Given the description of an element on the screen output the (x, y) to click on. 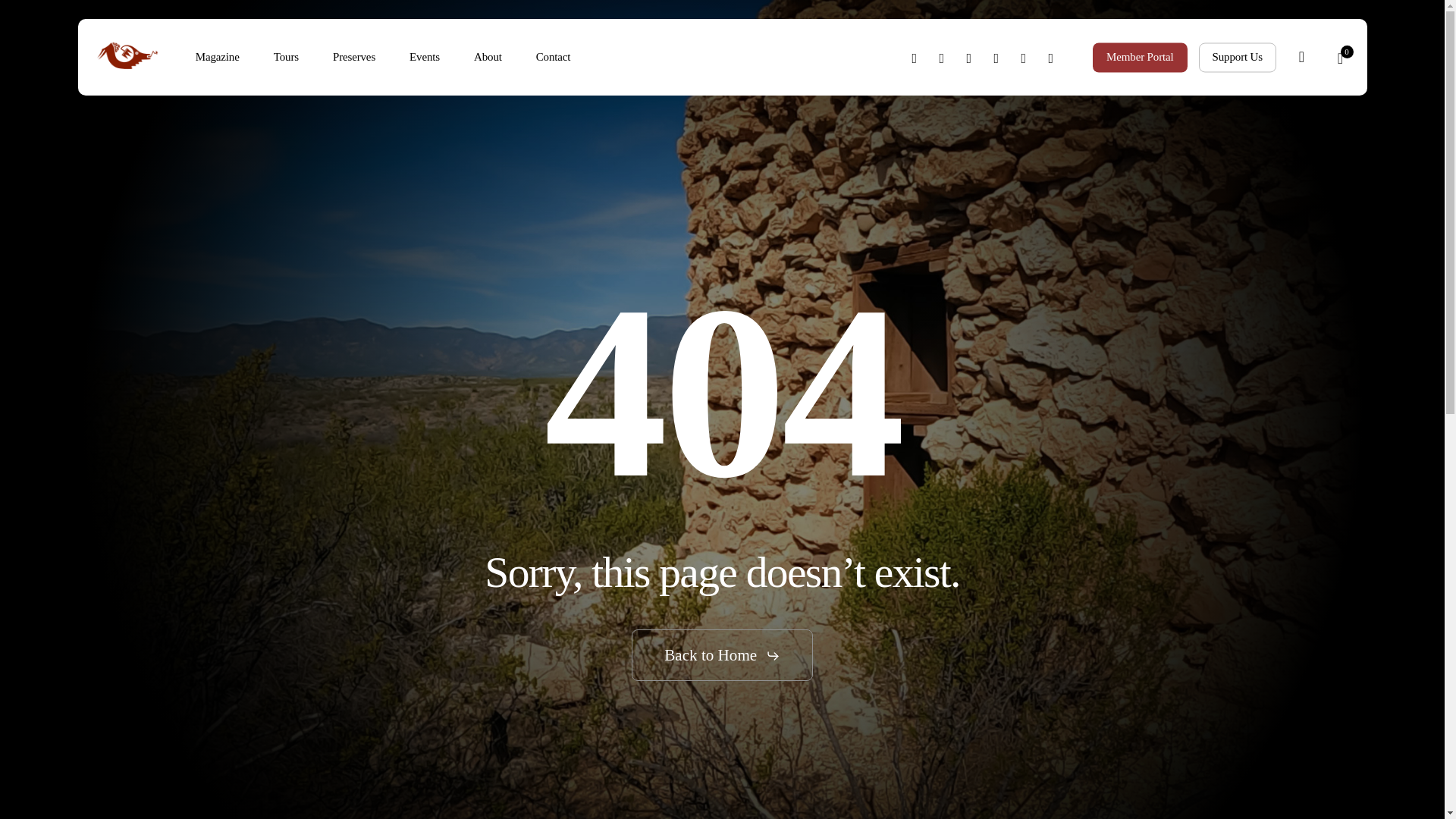
Events (424, 57)
Support Us (1237, 57)
Tours (286, 57)
Back to Home (720, 655)
twitter (914, 57)
0 (1340, 57)
linkedin (996, 57)
Magazine (217, 57)
About (488, 57)
facebook (941, 57)
youtube (1023, 57)
Contact (553, 57)
instagram (1050, 57)
search (1301, 57)
Preserves (354, 57)
